Given the description of an element on the screen output the (x, y) to click on. 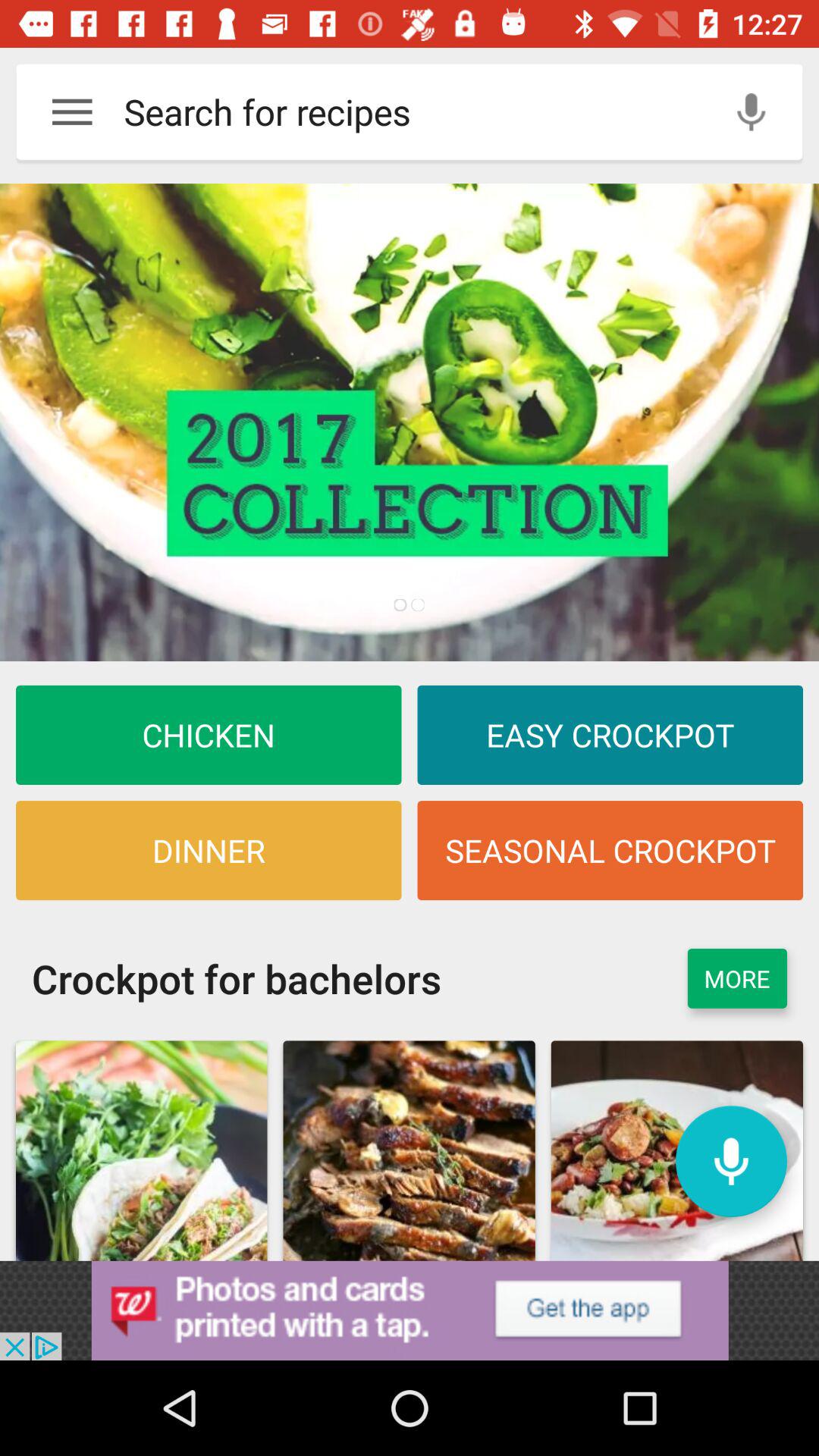
go to record (731, 1161)
